Given the description of an element on the screen output the (x, y) to click on. 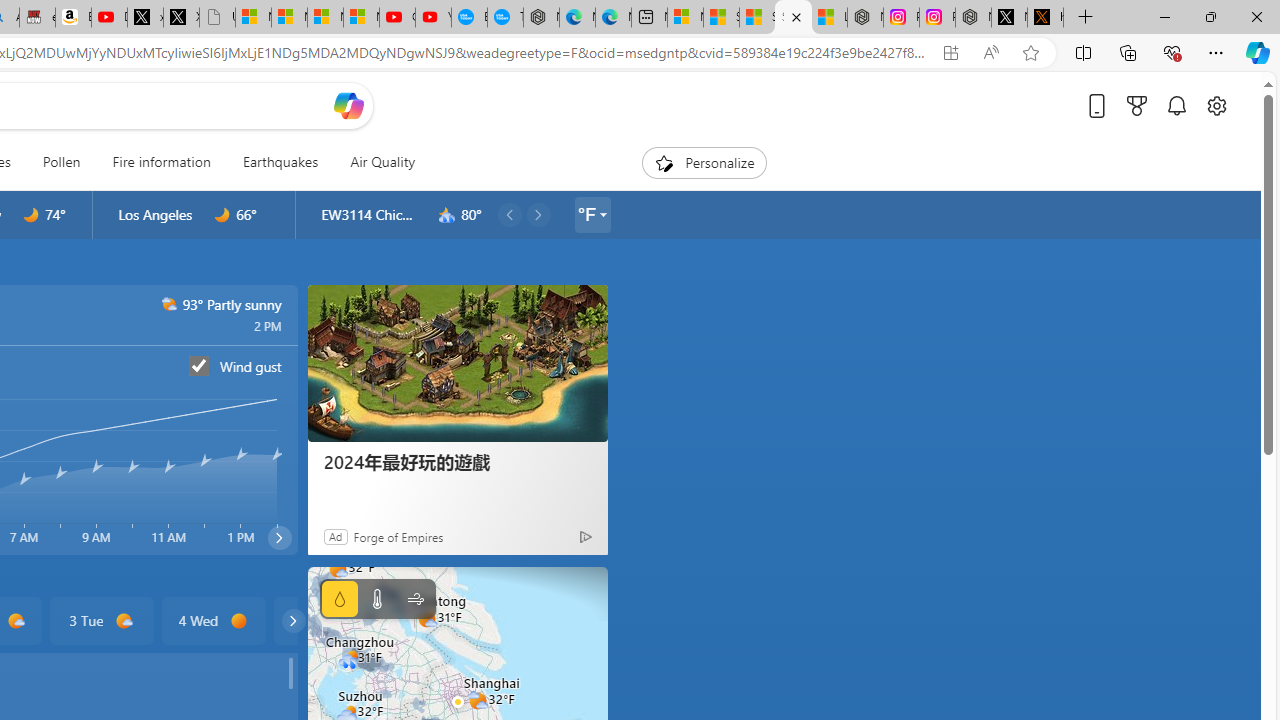
Temperature (376, 599)
d2000 (169, 303)
Forge of Empires (397, 536)
help.x.com | 524: A timeout occurred (1045, 17)
Fire information (161, 162)
App available. Install Microsoft Start Weather (950, 53)
Precipitation (339, 599)
